Given the description of an element on the screen output the (x, y) to click on. 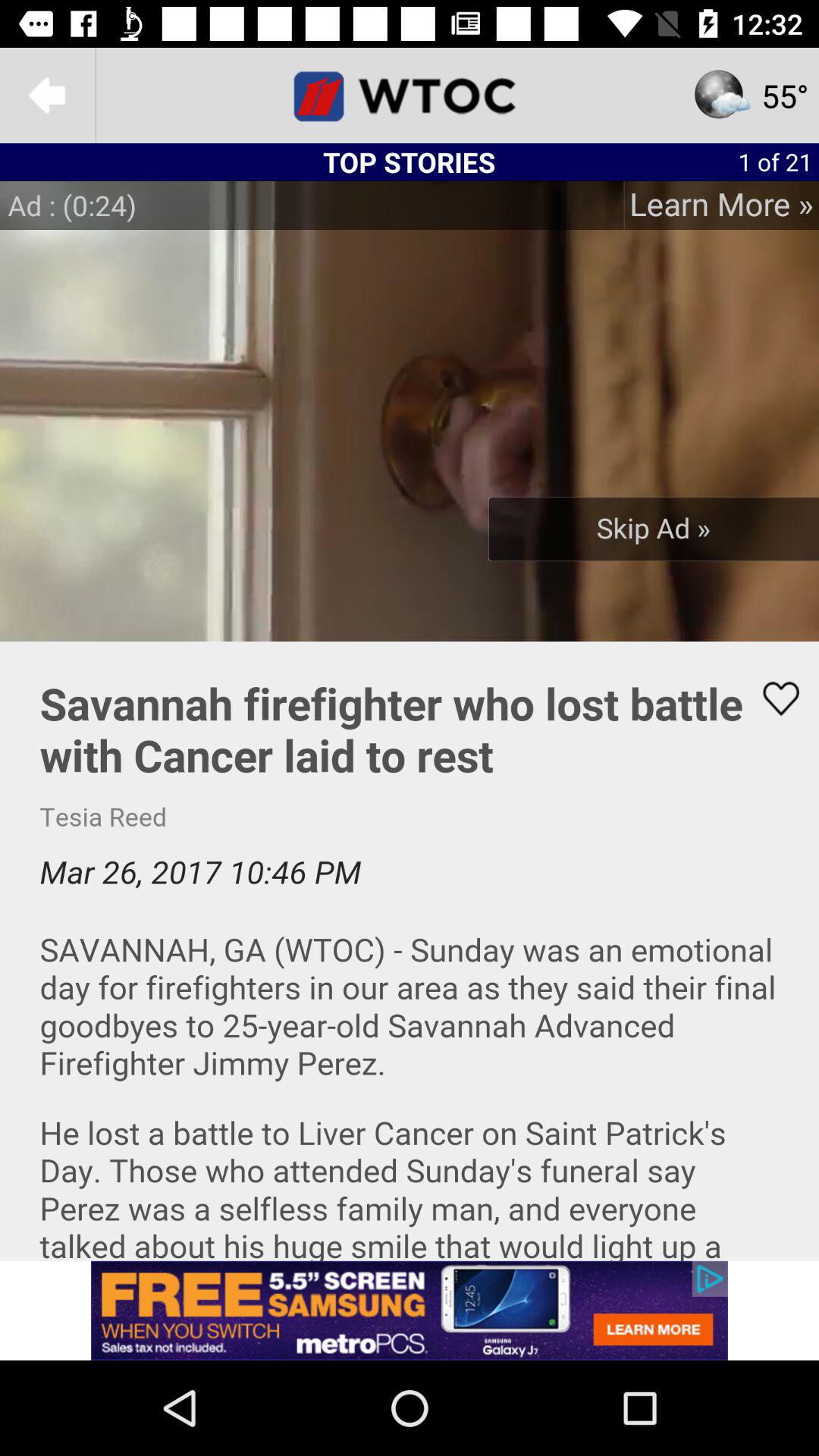
goback (47, 95)
